Given the description of an element on the screen output the (x, y) to click on. 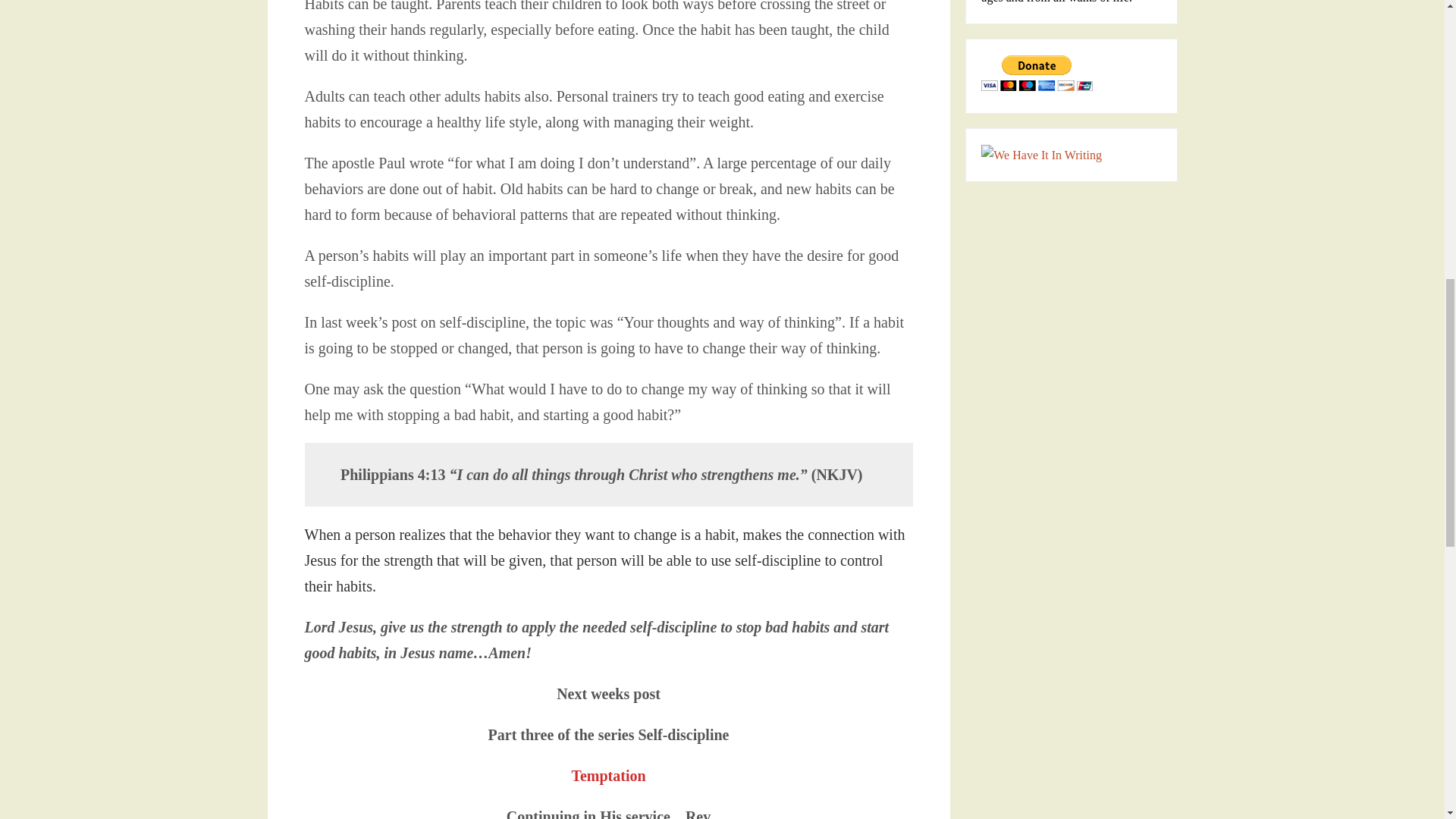
PayPal - The safer, easier way to pay online! (1037, 72)
